Given the description of an element on the screen output the (x, y) to click on. 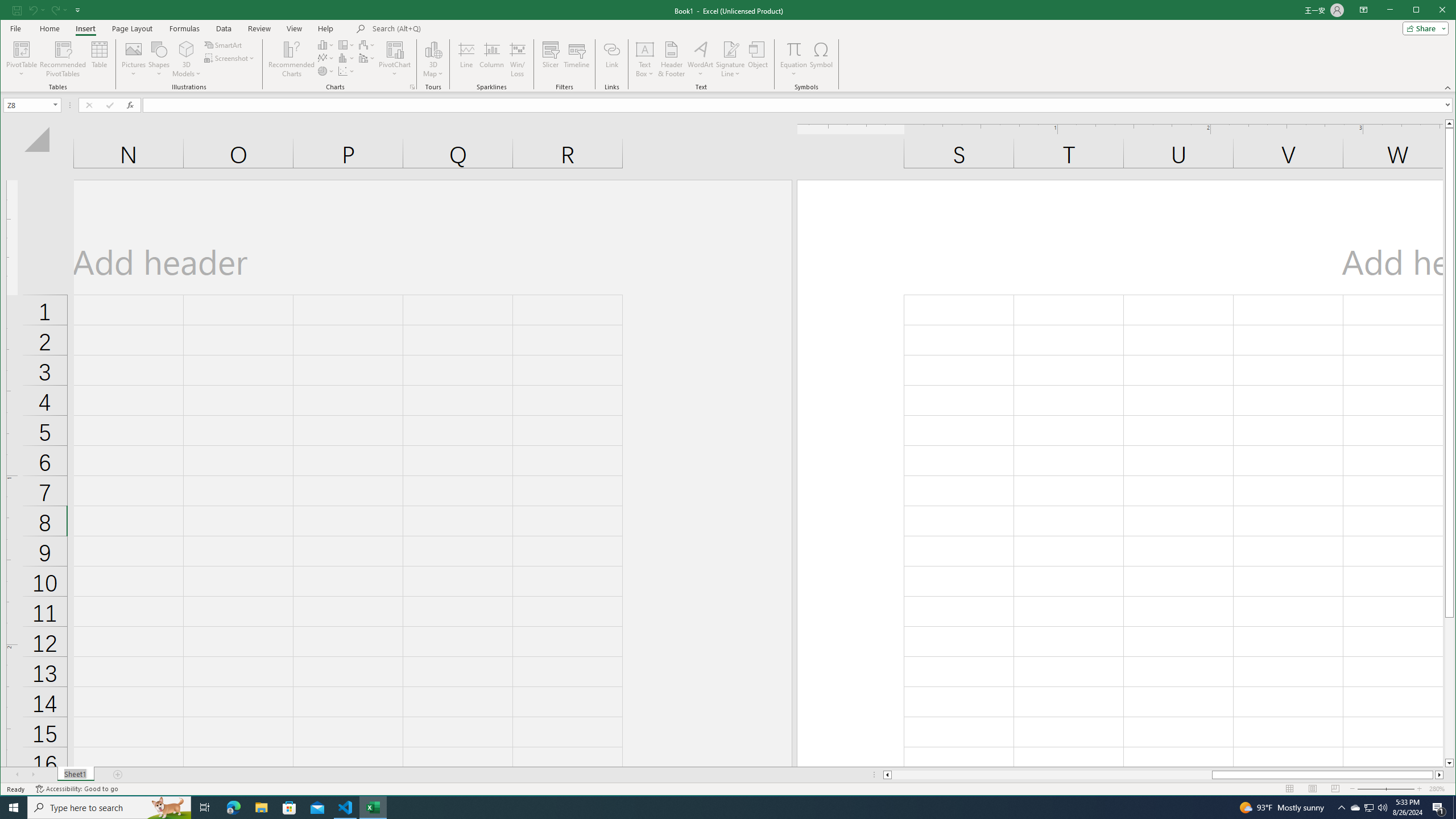
Insert Scatter (X, Y) or Bubble Chart (346, 70)
Link (611, 59)
Insert Column or Bar Chart (1368, 807)
Object... (325, 44)
Excel - 1 running window (757, 59)
Show desktop (373, 807)
Line (1454, 807)
